Given the description of an element on the screen output the (x, y) to click on. 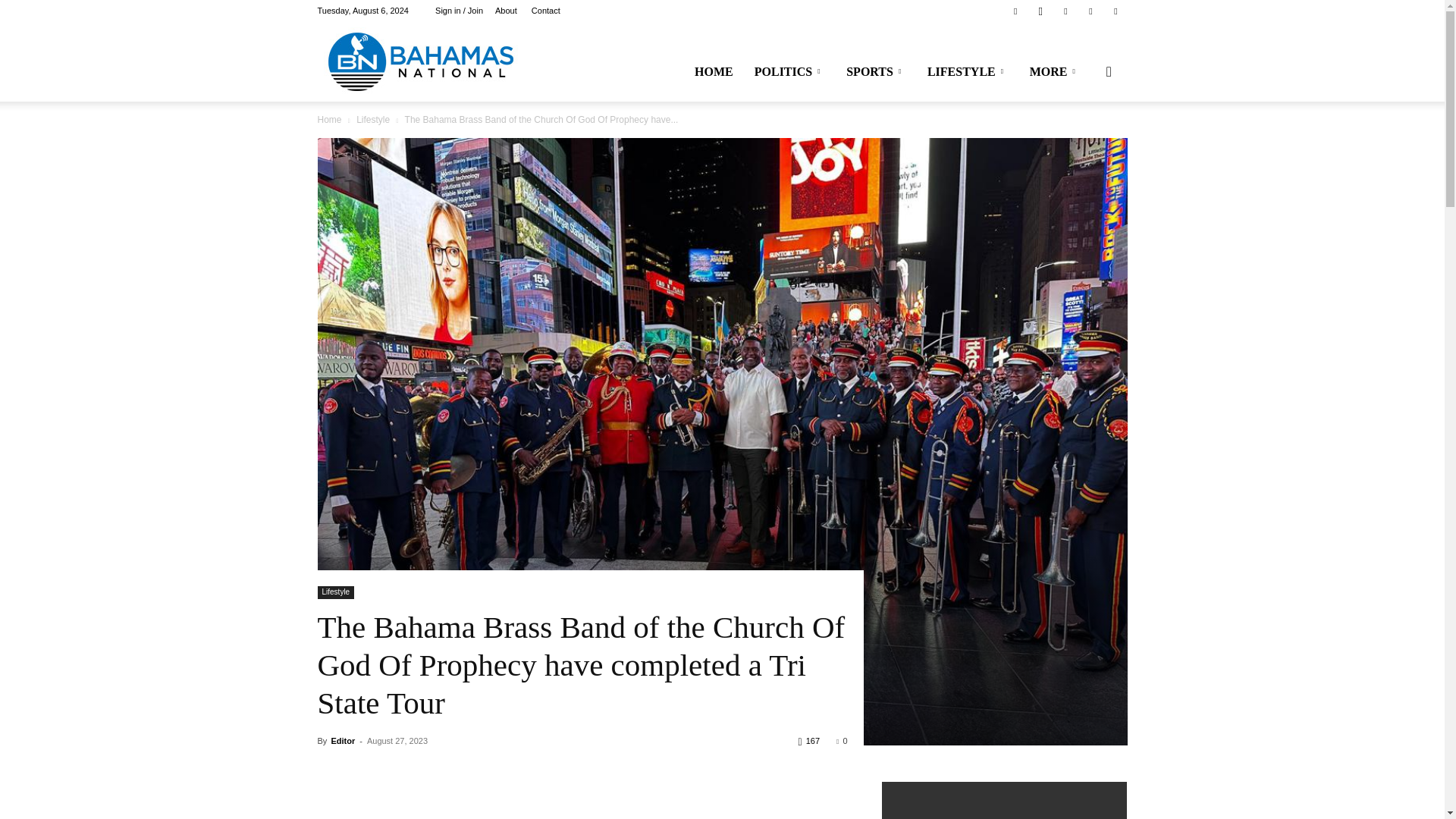
POLITICS (789, 71)
Vimeo (1090, 10)
Facebook (1015, 10)
Twitter (1065, 10)
Instagram (1040, 10)
About (505, 10)
HOME (714, 71)
Bahamas National (419, 61)
Contact (545, 10)
Search (1085, 143)
Youtube (1114, 10)
